Given the description of an element on the screen output the (x, y) to click on. 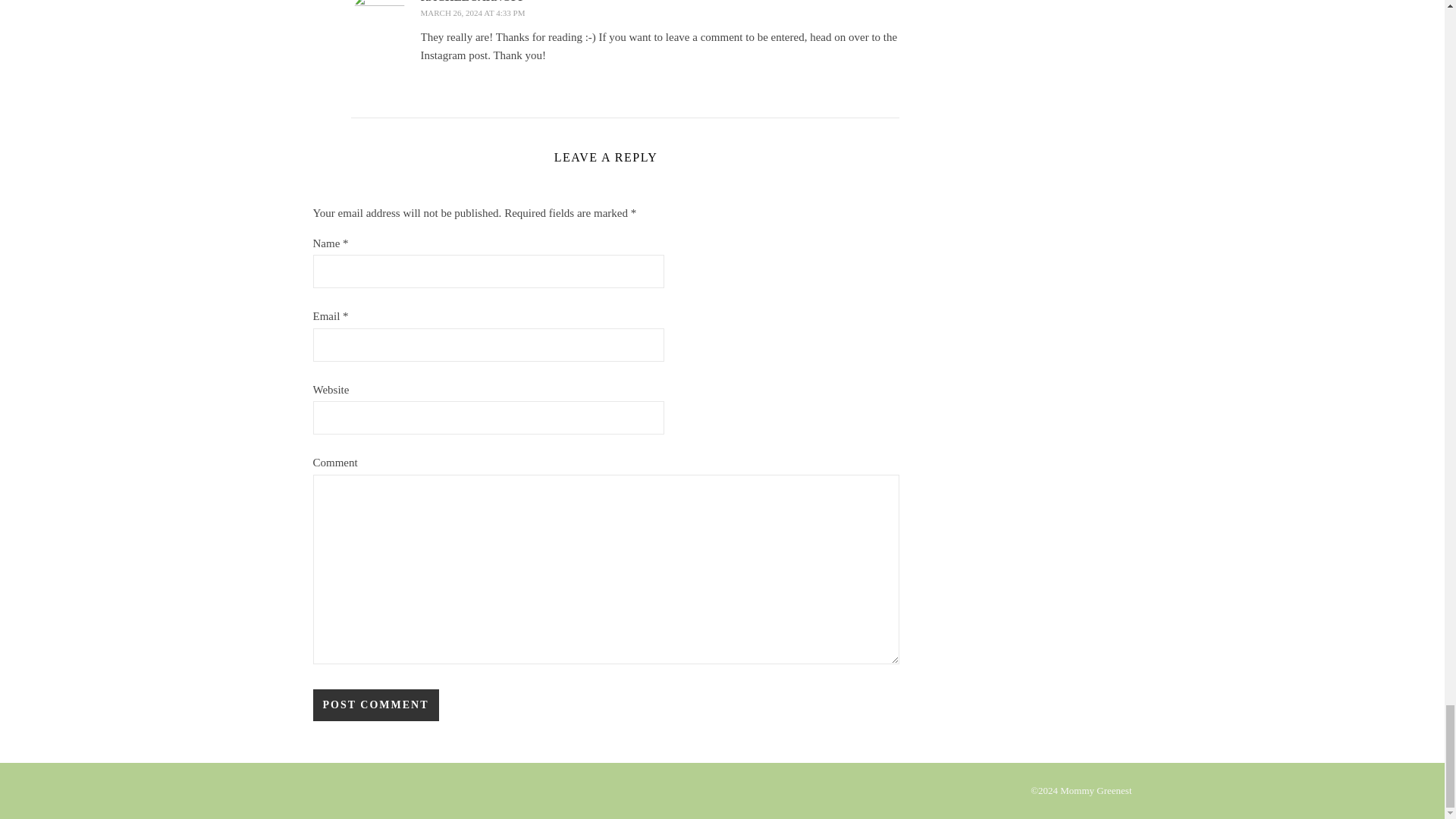
Post Comment (375, 705)
